Given the description of an element on the screen output the (x, y) to click on. 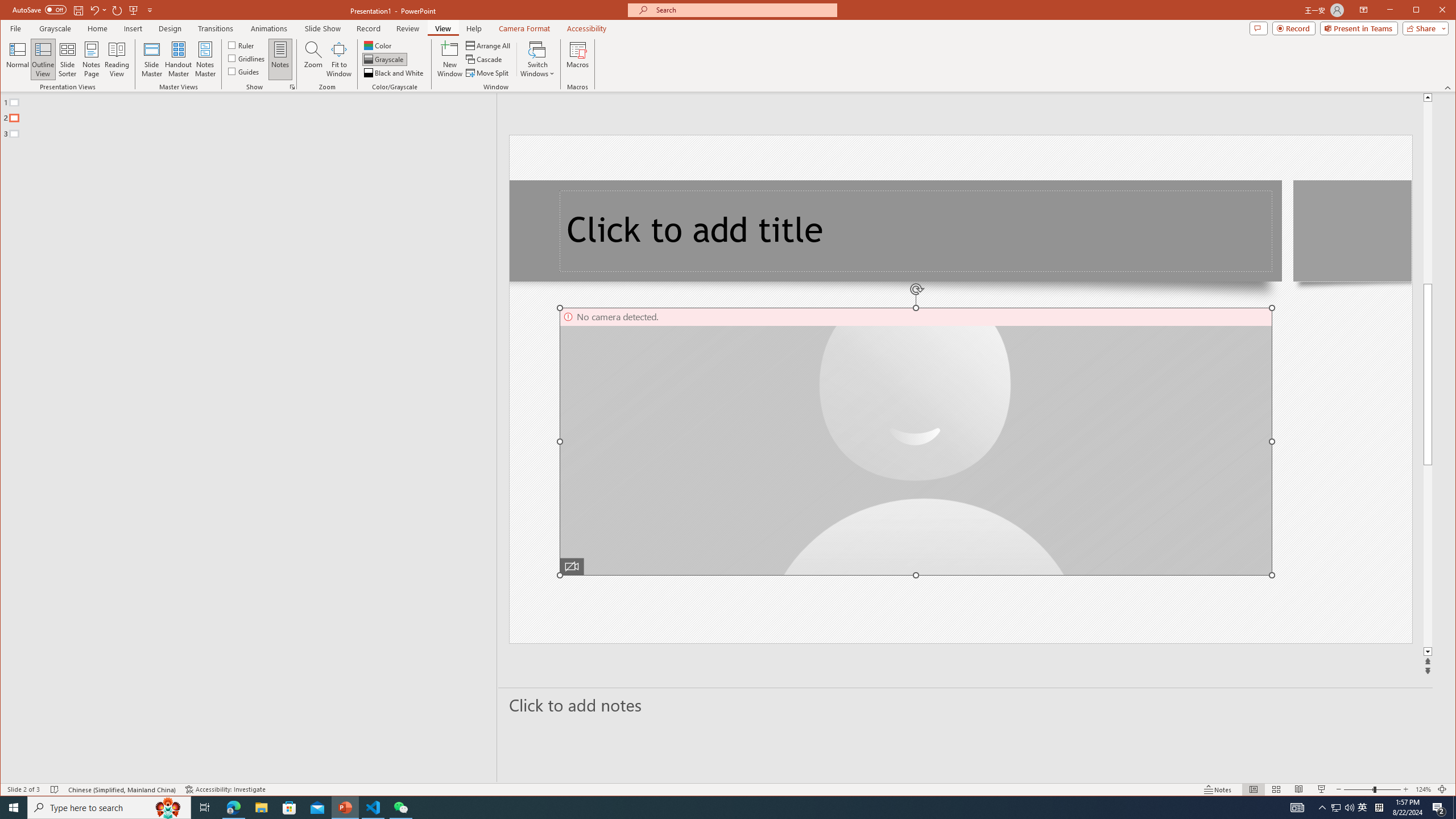
PowerPoint - 1 running window (345, 807)
Notes Master (204, 59)
Macros (576, 59)
Ruler (241, 44)
Tray Input Indicator - Chinese (Simplified, China) (1378, 807)
Arrange All (488, 45)
Notification Chevron (1322, 807)
File Explorer (261, 807)
Maximize (1432, 11)
